Given the description of an element on the screen output the (x, y) to click on. 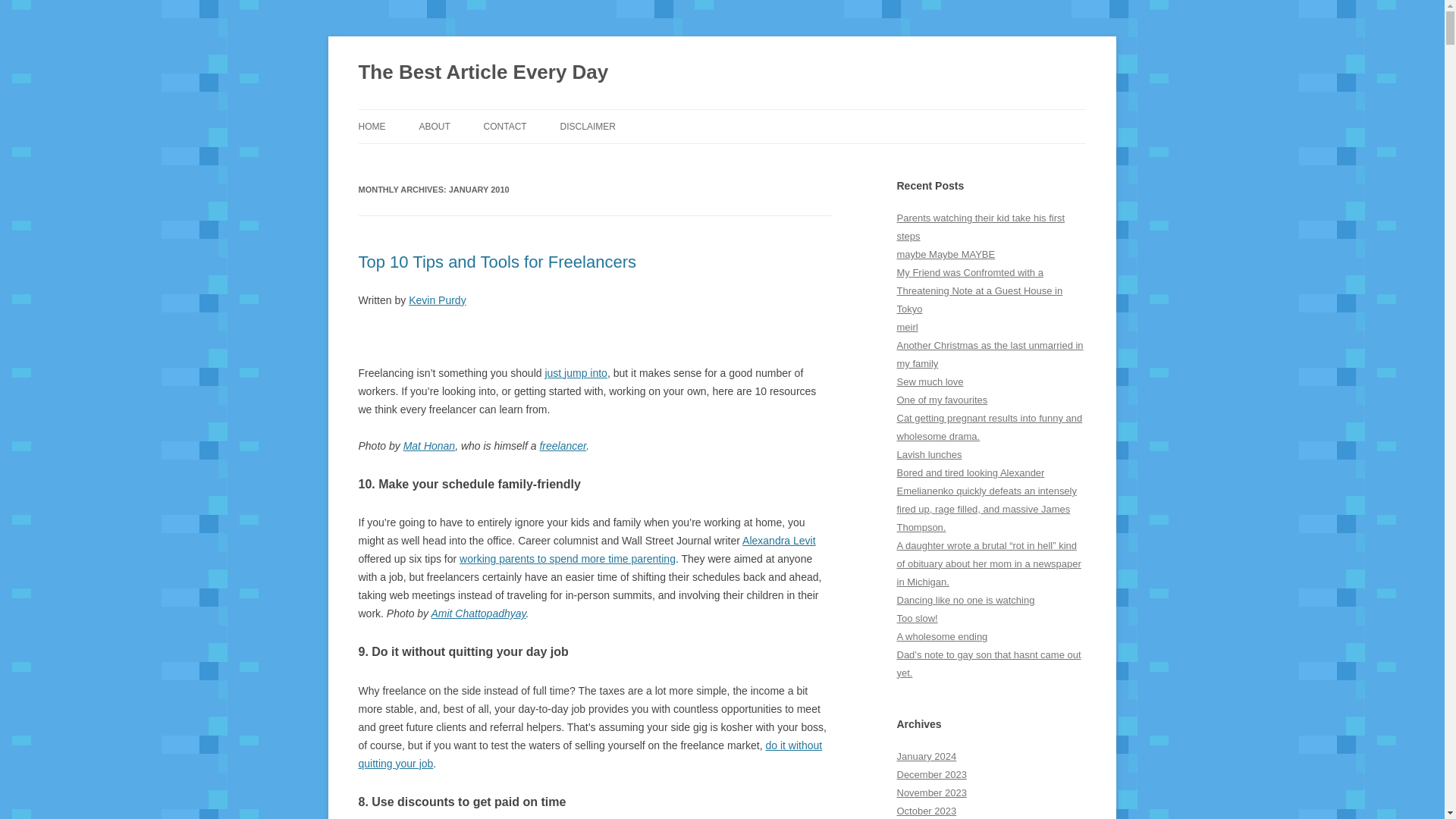
Amit Chattopadhyay (477, 613)
DISCLAIMER (587, 126)
working parents to spend more time parenting (567, 558)
ABOUT (434, 126)
just jump into (575, 372)
Top 10 Tips and Tools for Freelancers (496, 261)
CONTACT (505, 126)
The Best Article Every Day (483, 72)
freelancer (562, 445)
do it without quitting your job (590, 754)
Alexandra Levit (778, 540)
Mat Honan (428, 445)
Kevin Purdy (437, 300)
